Given the description of an element on the screen output the (x, y) to click on. 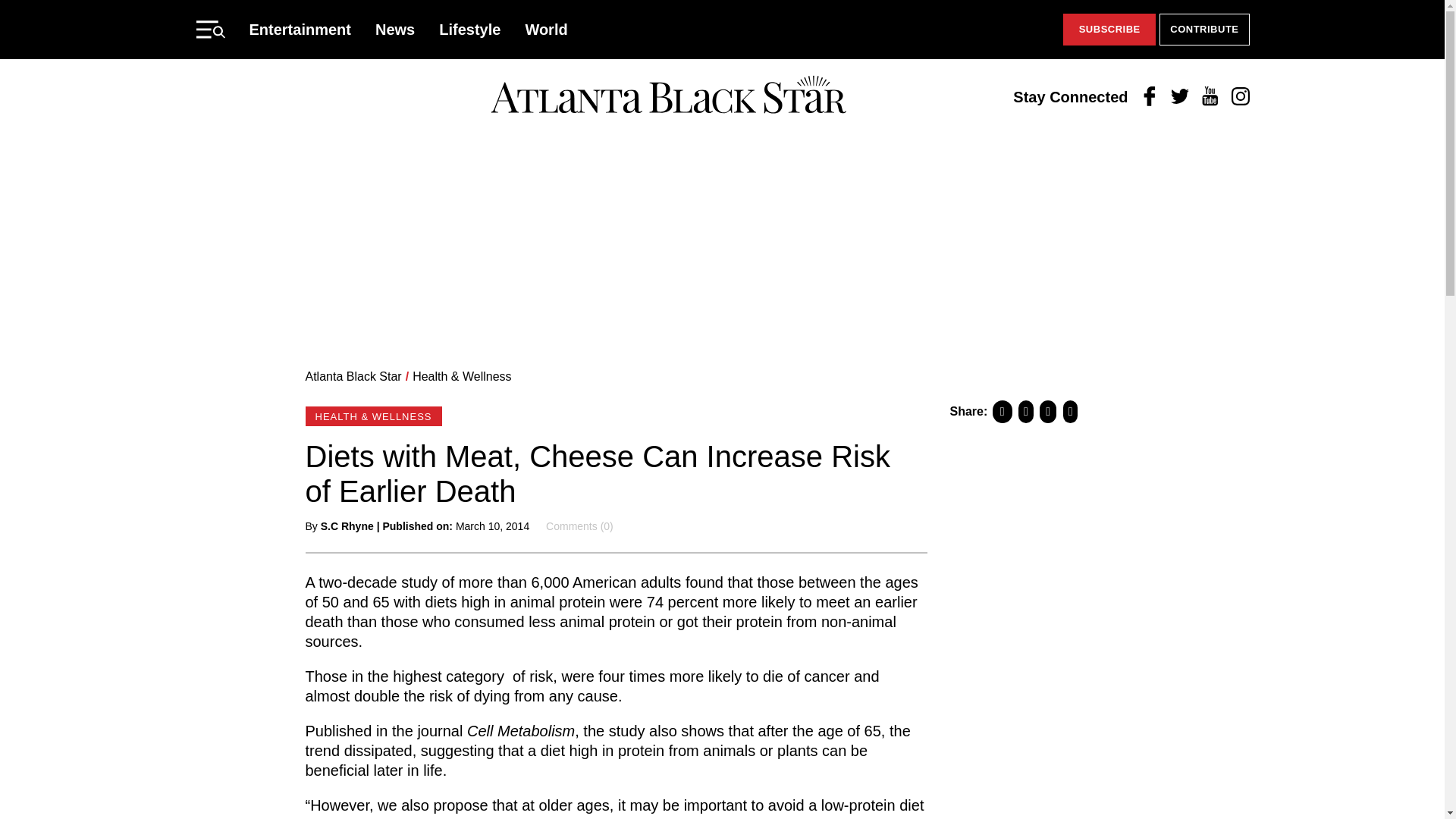
News (394, 29)
CONTRIBUTE (1203, 29)
Atlanta Black Star (352, 376)
World (545, 29)
SUBSCRIBE (1109, 29)
S.C Rhyne (347, 526)
Go to Atlanta Black Star. (352, 376)
Lifestyle (469, 29)
Atlanta Black Star (667, 96)
Entertainment (299, 29)
